Given the description of an element on the screen output the (x, y) to click on. 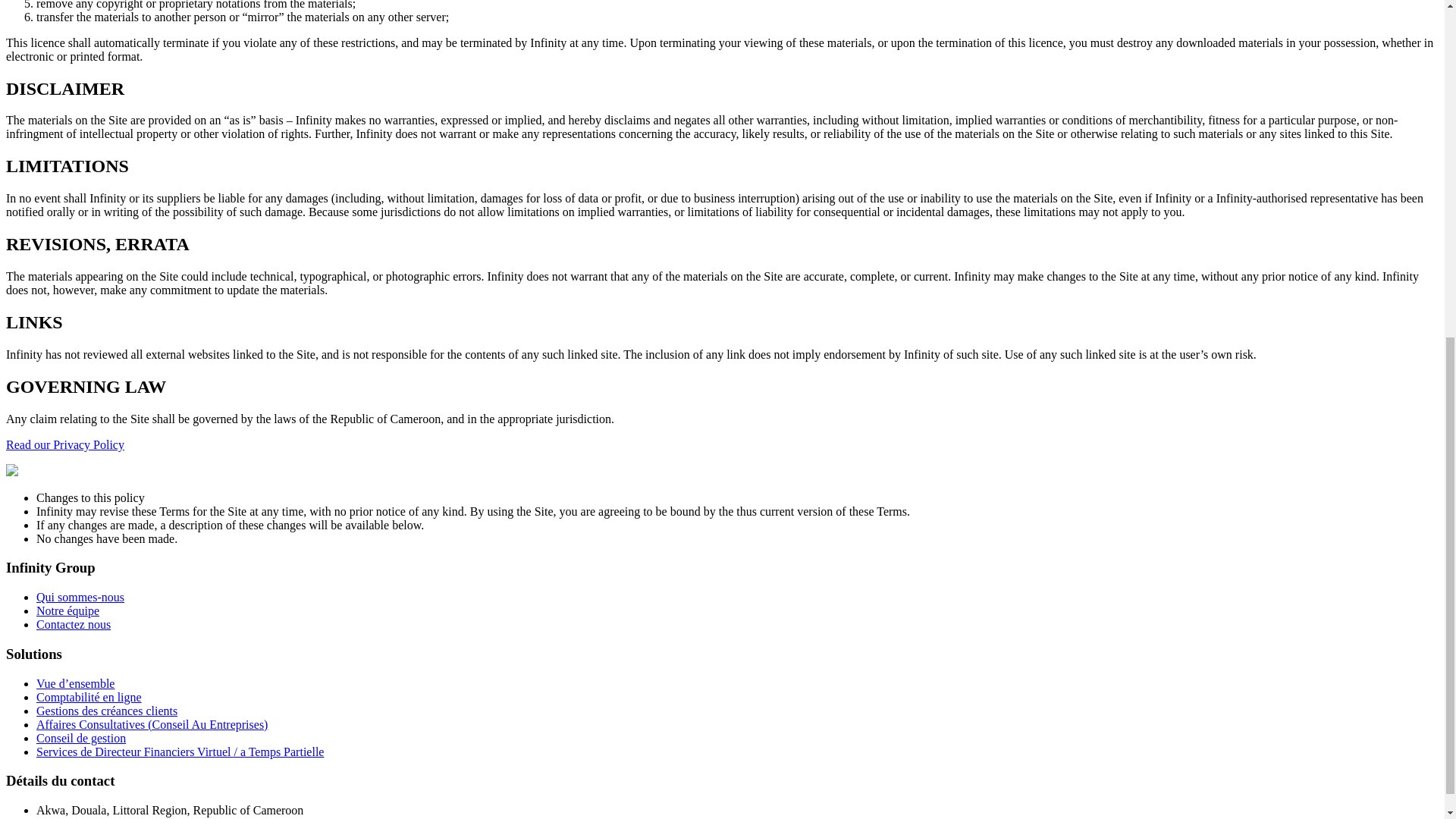
Contactez nous (73, 624)
Read our Privacy Policy (64, 444)
Qui sommes-nous (79, 596)
Conseil de gestion (80, 738)
